Given the description of an element on the screen output the (x, y) to click on. 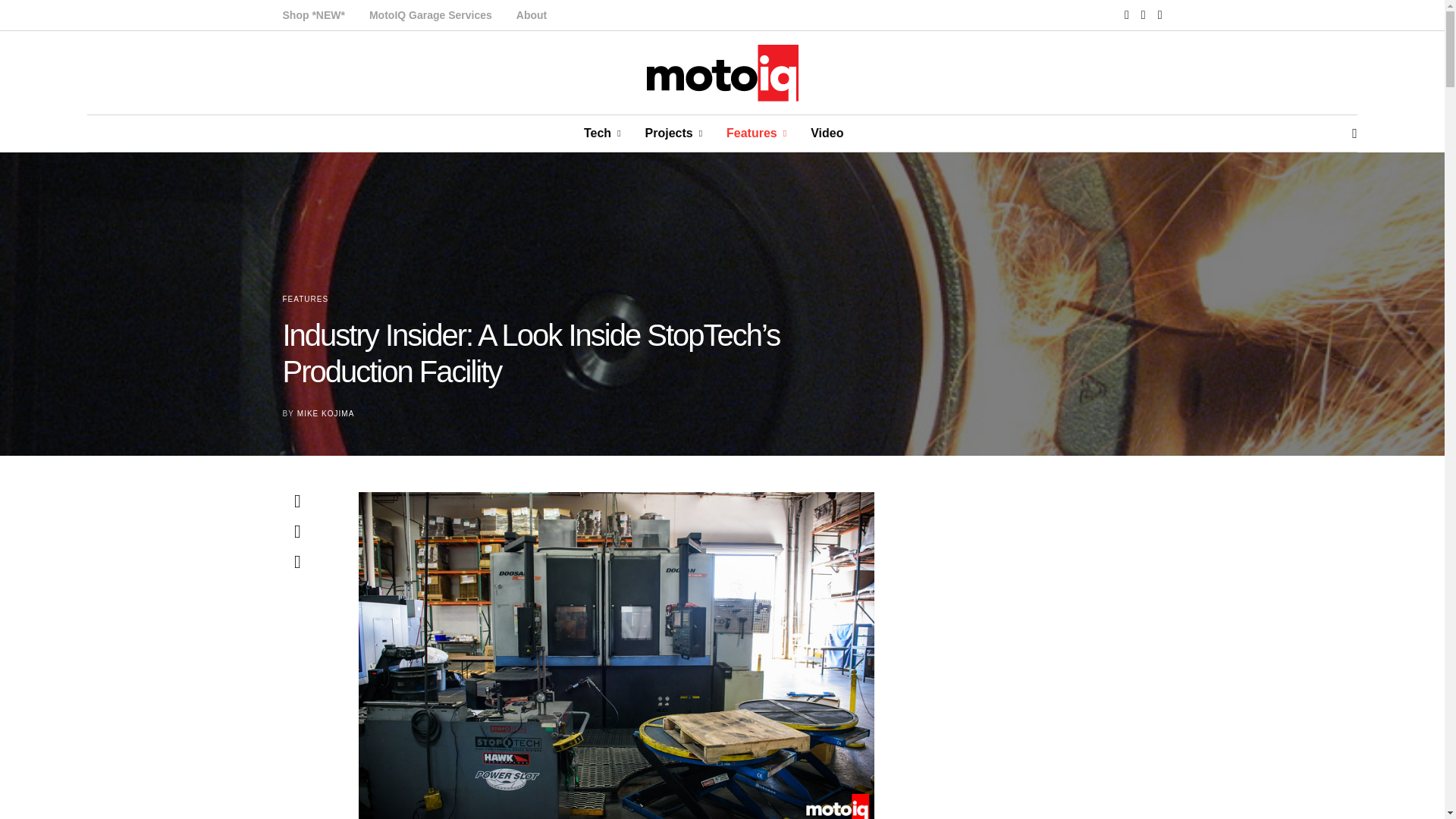
View all posts by Mike Kojima (325, 413)
